Given the description of an element on the screen output the (x, y) to click on. 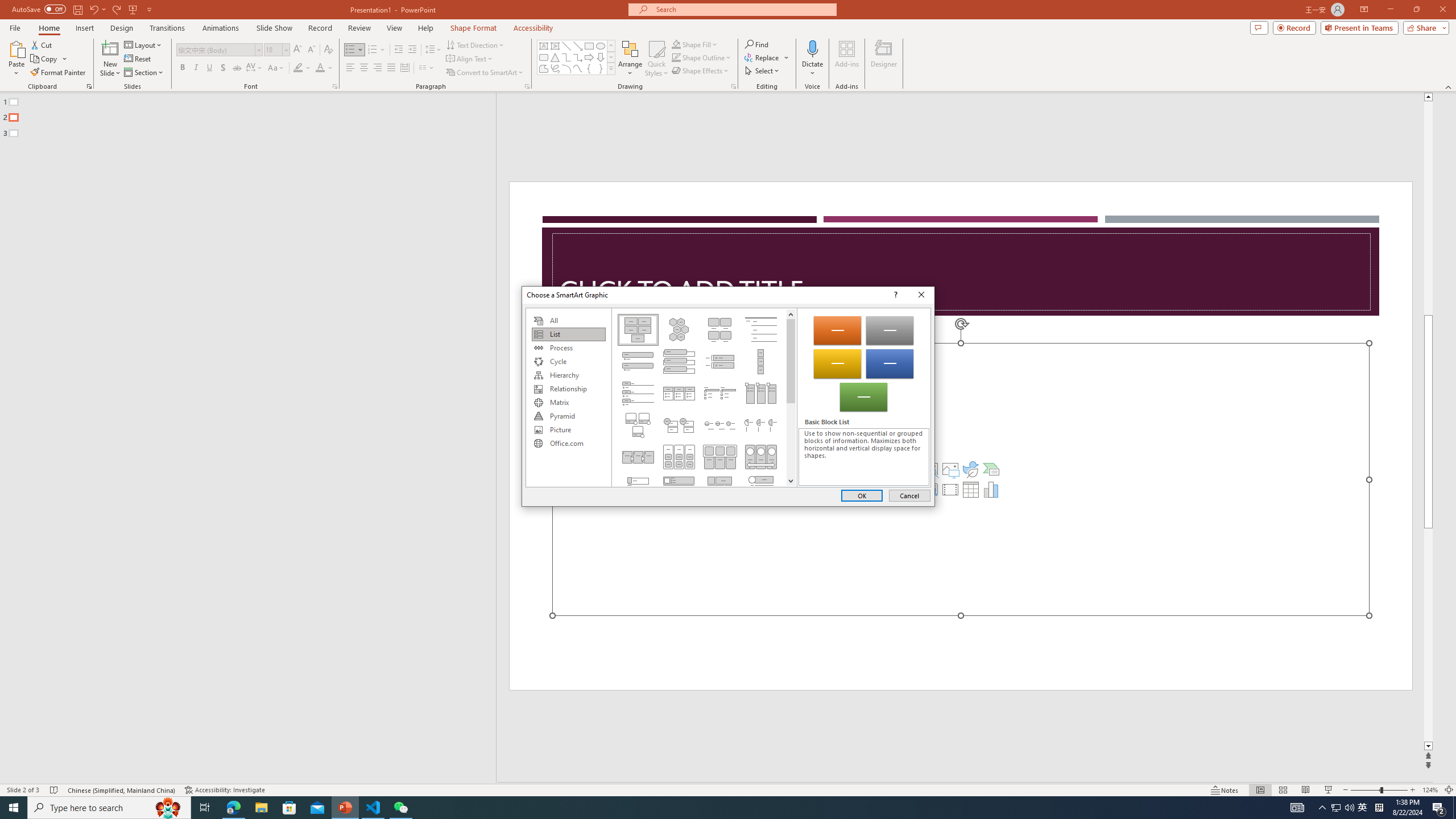
Graphic Categories (568, 397)
Design (122, 28)
Shape Format (473, 28)
Right Brace (600, 68)
Layout (143, 44)
Microsoft search (742, 9)
Shape Outline Blue, Accent 1 (675, 56)
Q2790: 100% (1349, 807)
Font Color (324, 67)
Align Left (349, 67)
Line Arrow (577, 45)
Alternating Picture Blocks (719, 489)
Arrow: Down (600, 57)
Context help (894, 294)
